Given the description of an element on the screen output the (x, y) to click on. 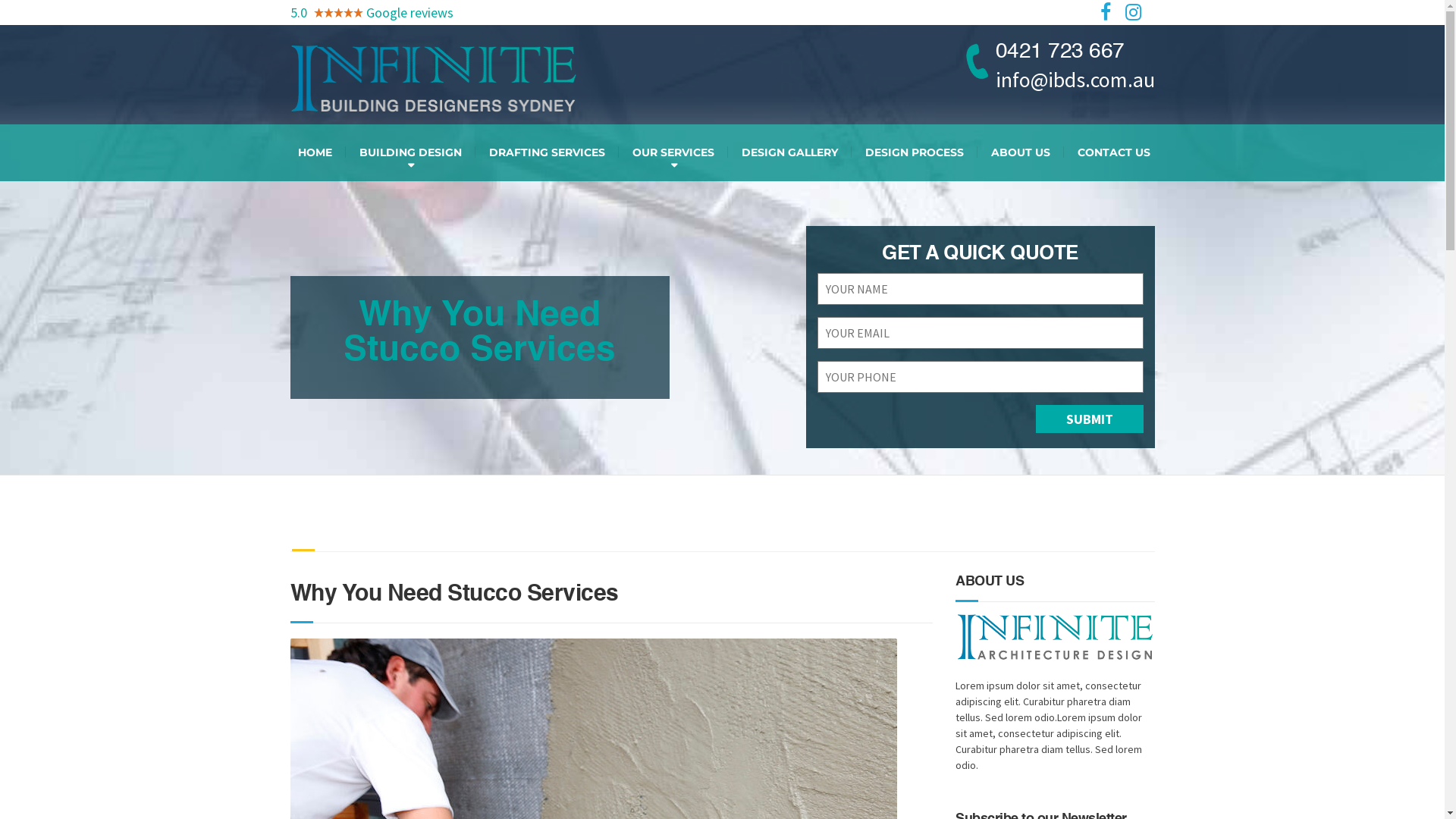
CONTACT US Element type: text (1113, 152)
OUR SERVICES Element type: text (673, 152)
5.0 Google reviews Element type: text (370, 12)
HOME Element type: text (314, 152)
BUILDING DESIGN Element type: text (410, 152)
0421 723 667 Element type: text (1074, 51)
DESIGN PROCESS Element type: text (913, 152)
info@ibds.com.au Element type: text (1074, 79)
DESIGN GALLERY Element type: text (789, 152)
ABOUT US Element type: text (1019, 152)
SUBMIT Element type: text (1089, 418)
DRAFTING SERVICES Element type: text (546, 152)
